Given the description of an element on the screen output the (x, y) to click on. 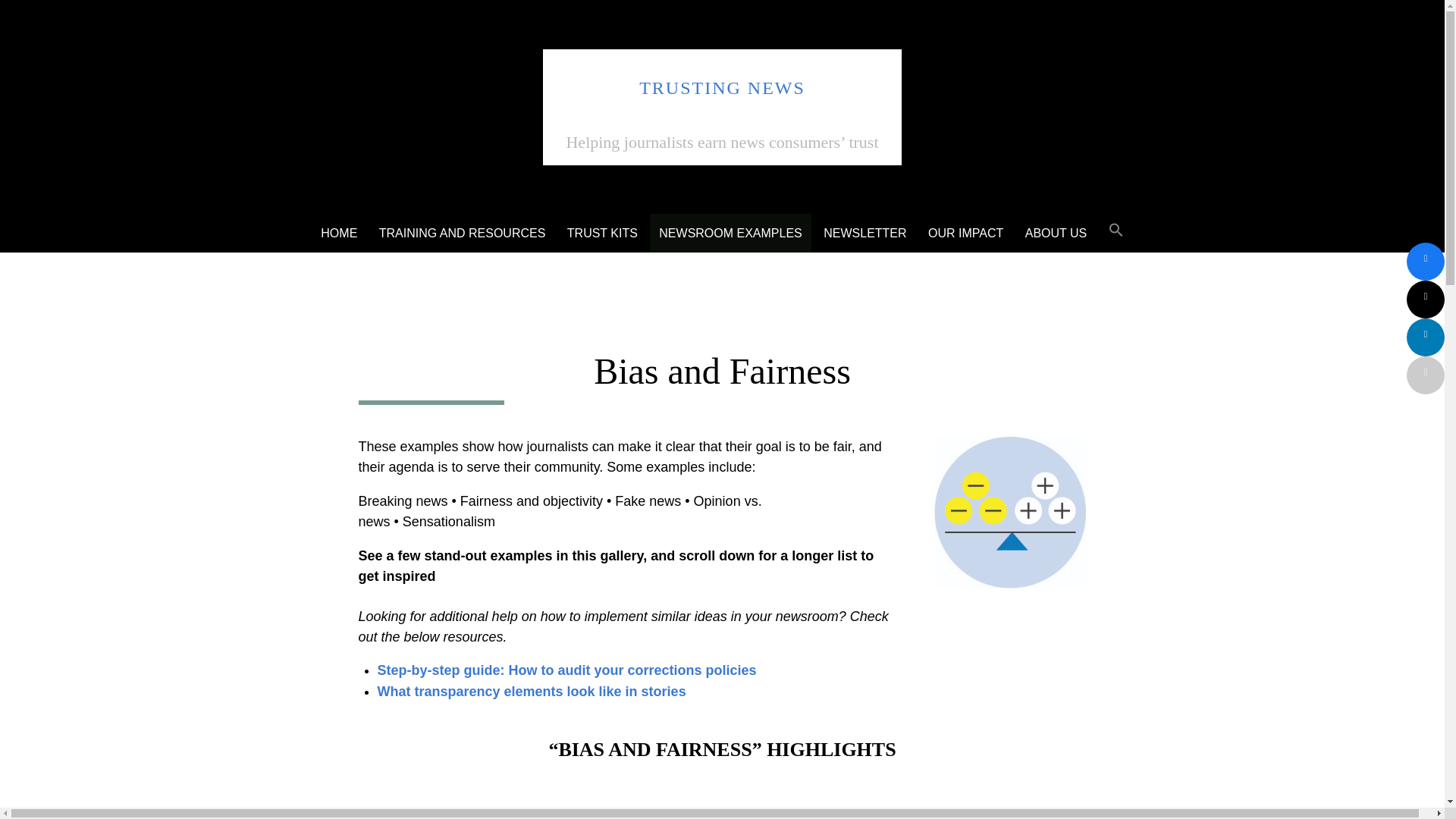
TRUST KITS (601, 232)
OUR IMPACT (964, 232)
TRUSTING NEWS (722, 87)
NEWSLETTER (864, 232)
TRAINING AND RESOURCES (461, 232)
HOME (338, 232)
NEWSROOM EXAMPLES (729, 232)
